Given the description of an element on the screen output the (x, y) to click on. 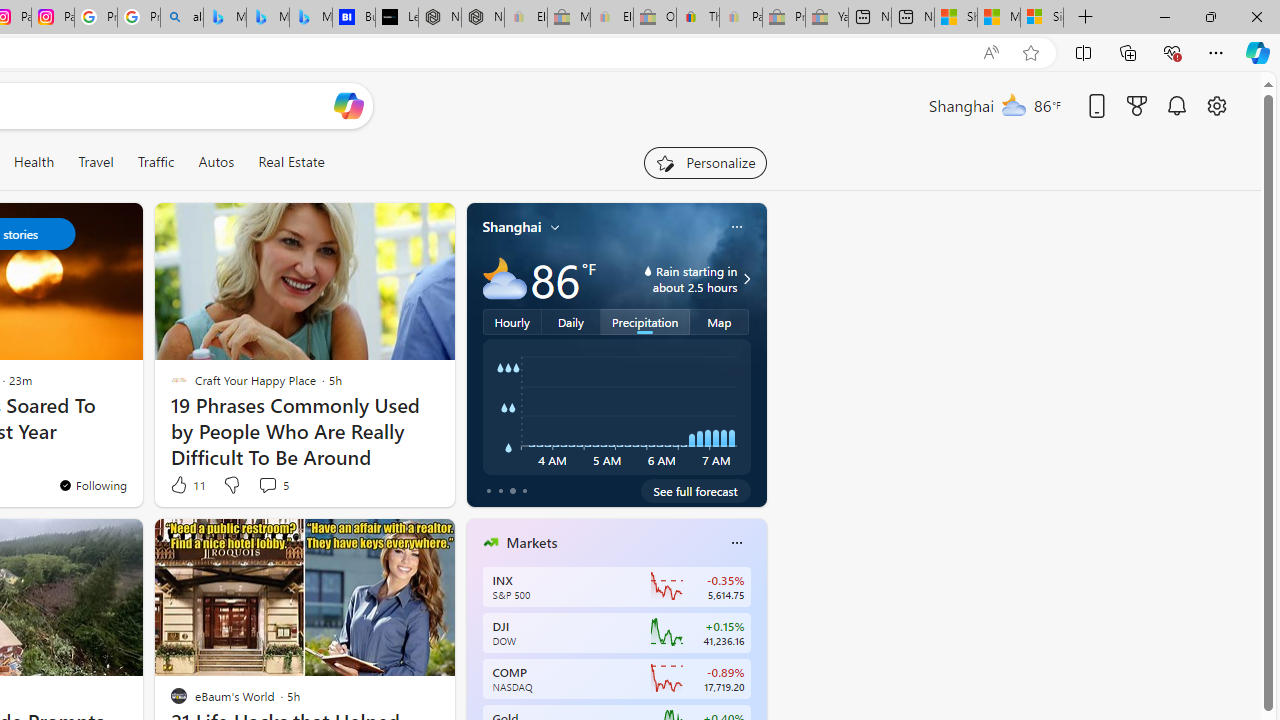
tab-2 (511, 490)
Markets (531, 543)
next (756, 670)
Precipitation (645, 321)
Autos (215, 161)
